Given the description of an element on the screen output the (x, y) to click on. 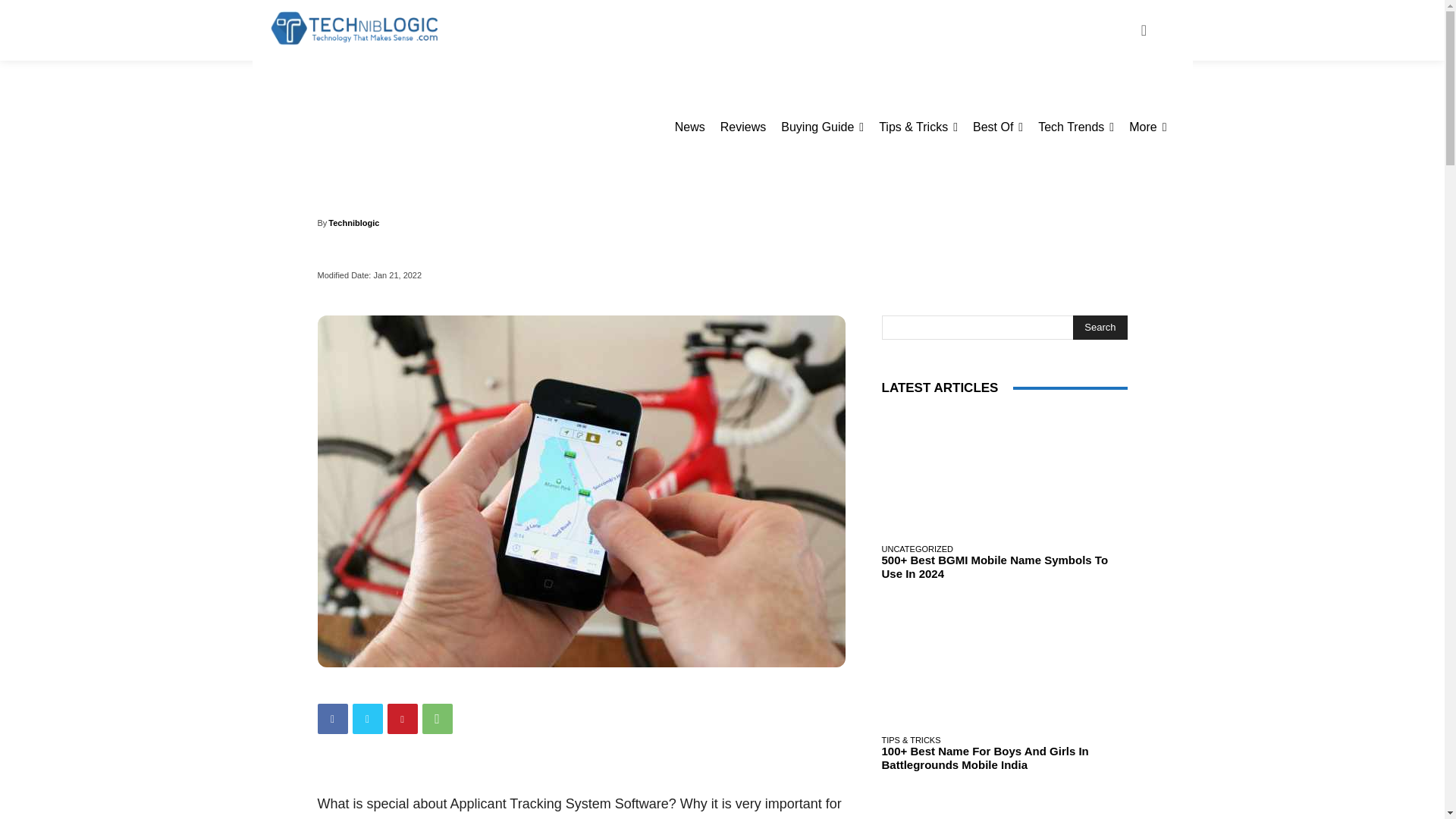
Best Of (997, 127)
News (689, 127)
Techniblogic Logo (352, 28)
Best Of (997, 127)
Buying Guide (821, 127)
Reviews (743, 127)
Tech Trends Gadgets (1075, 127)
